Given the description of an element on the screen output the (x, y) to click on. 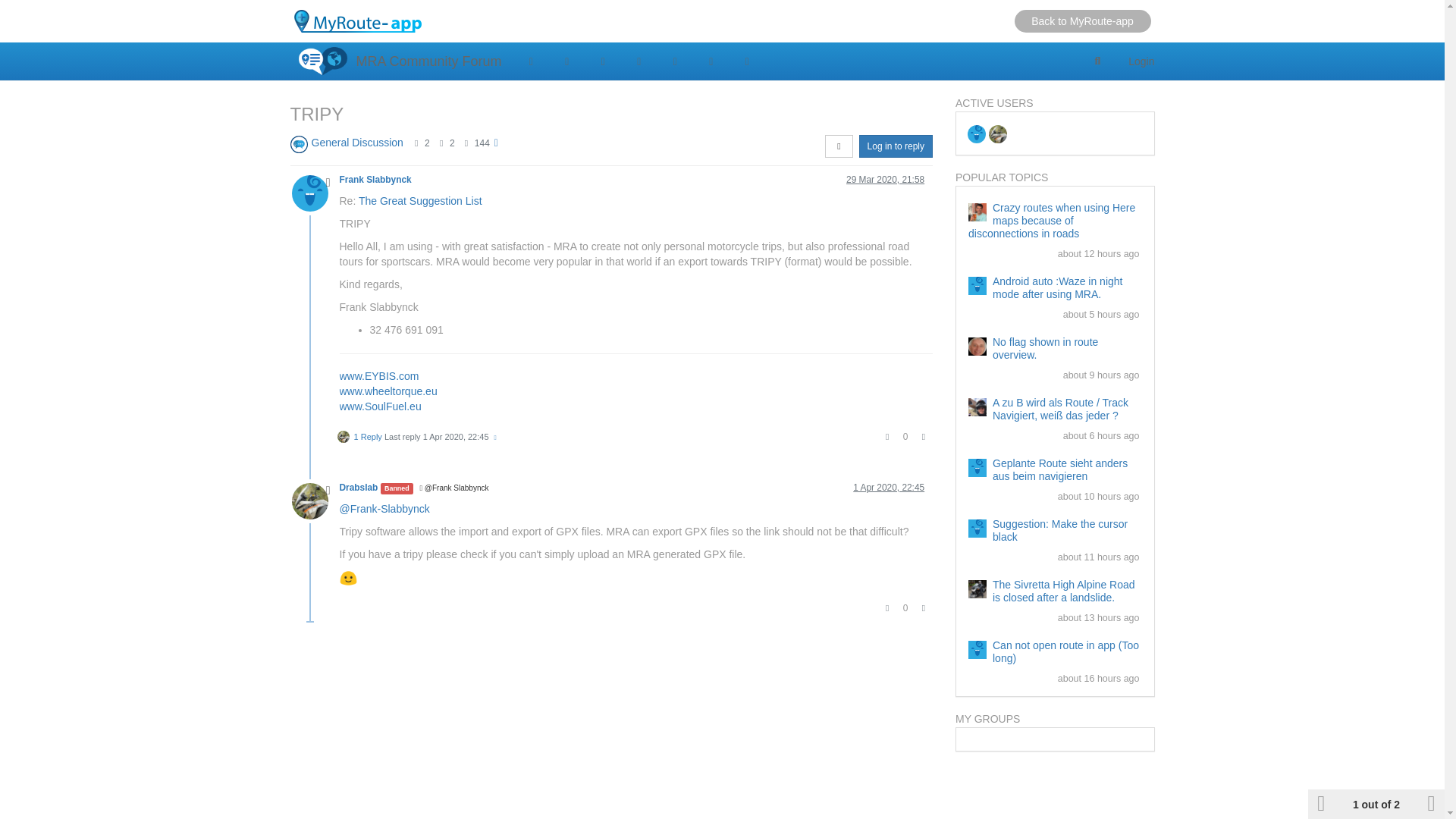
Log in to reply (896, 146)
Search (1097, 61)
Login (1141, 61)
Back to MyRoute-app (1082, 20)
General Discussion (357, 142)
